Given the description of an element on the screen output the (x, y) to click on. 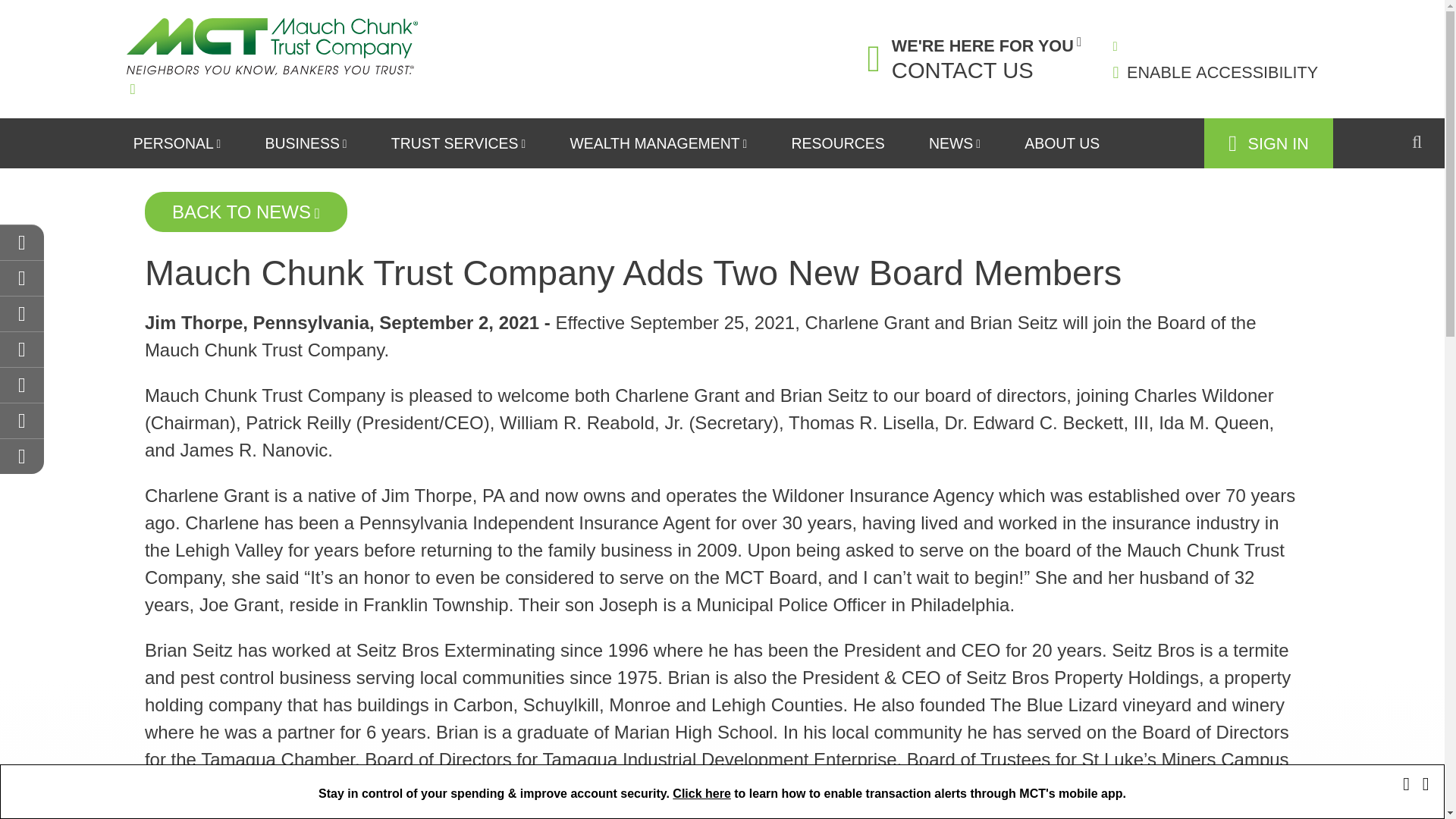
PERSONAL (177, 142)
ENABLE ACCESSIBILITY (1214, 72)
Next section (21, 456)
